Given the description of an element on the screen output the (x, y) to click on. 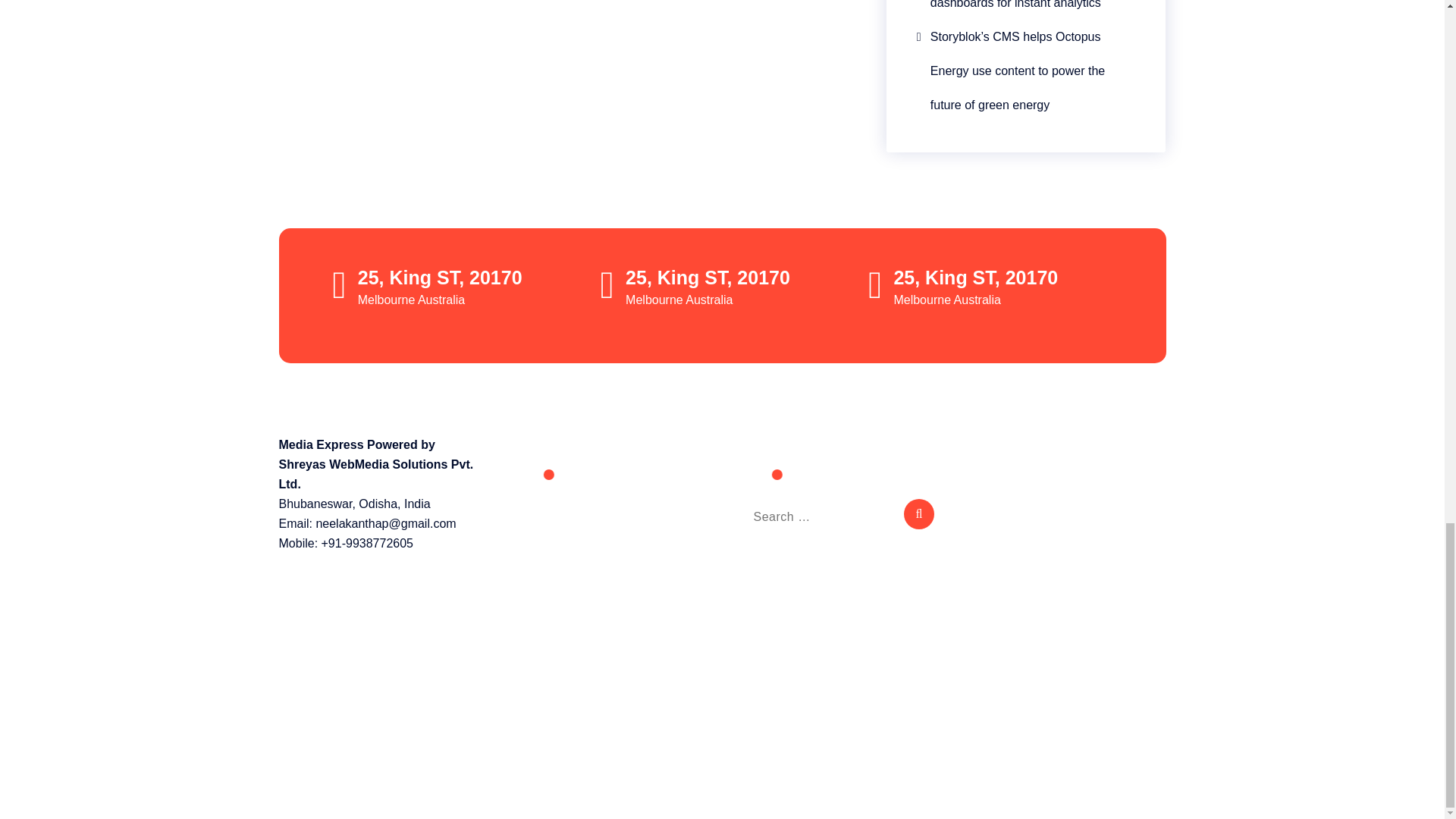
Education (539, 546)
Business (537, 512)
